Given the description of an element on the screen output the (x, y) to click on. 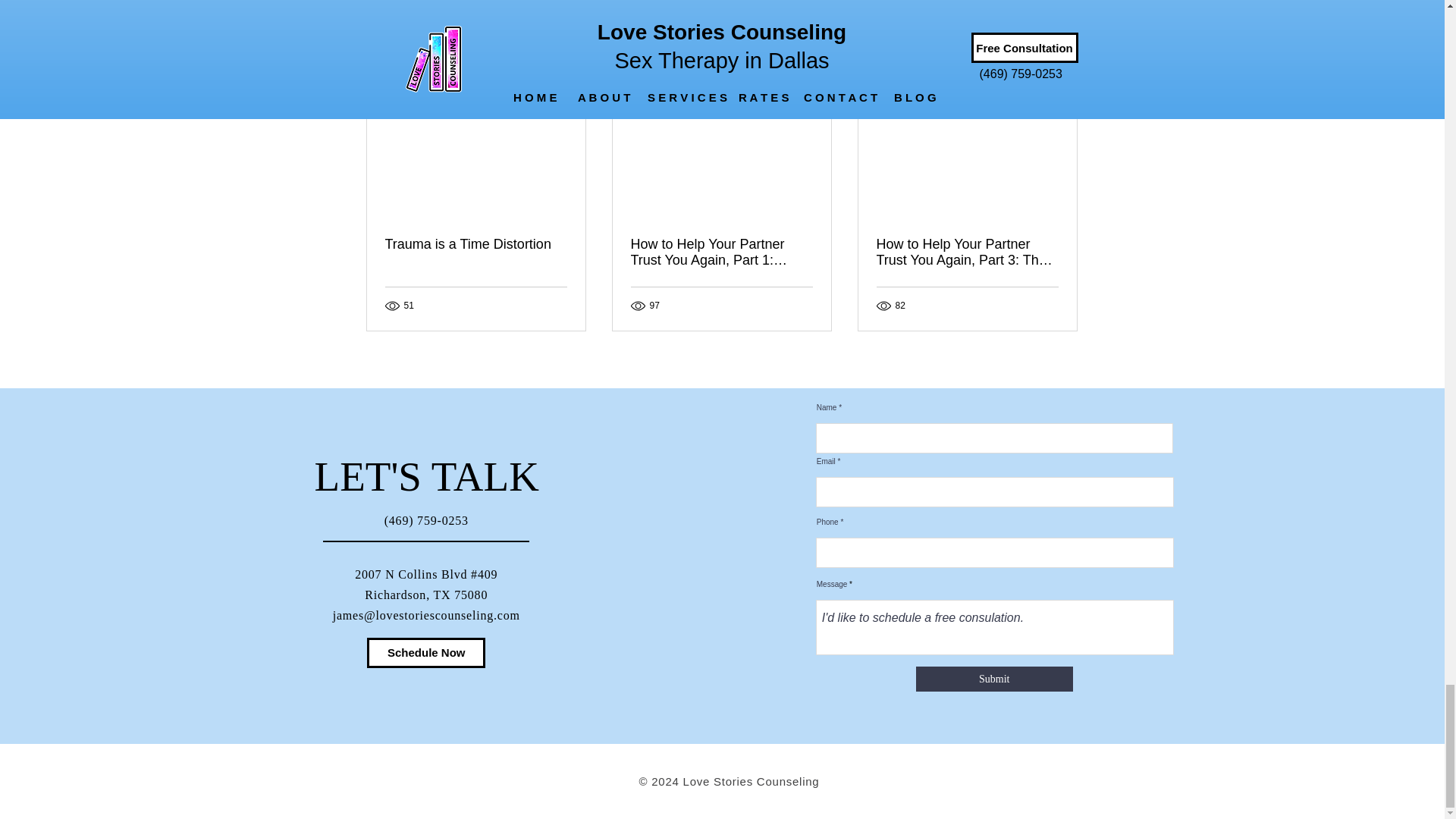
See All (1061, 68)
Trauma is a Time Distortion (476, 244)
